Given the description of an element on the screen output the (x, y) to click on. 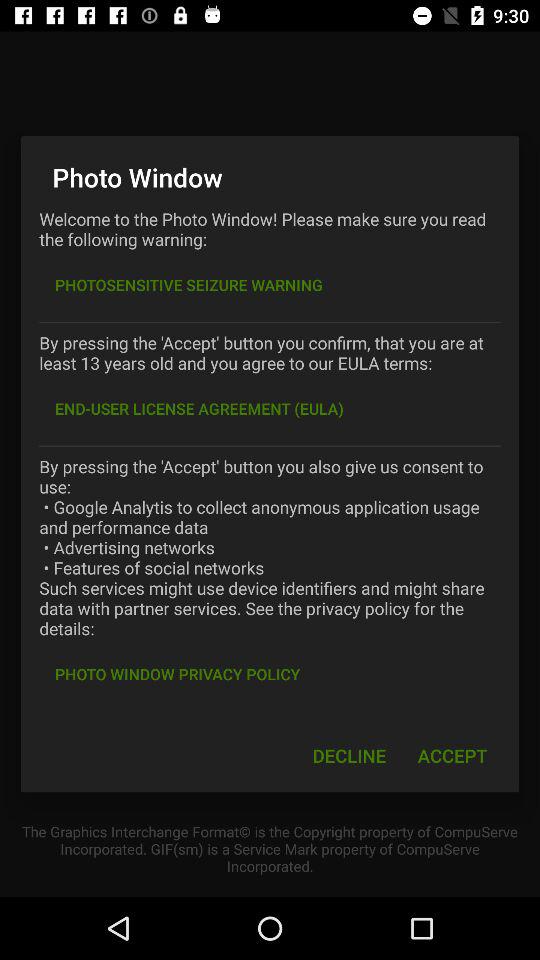
open the item next to the accept item (349, 755)
